Given the description of an element on the screen output the (x, y) to click on. 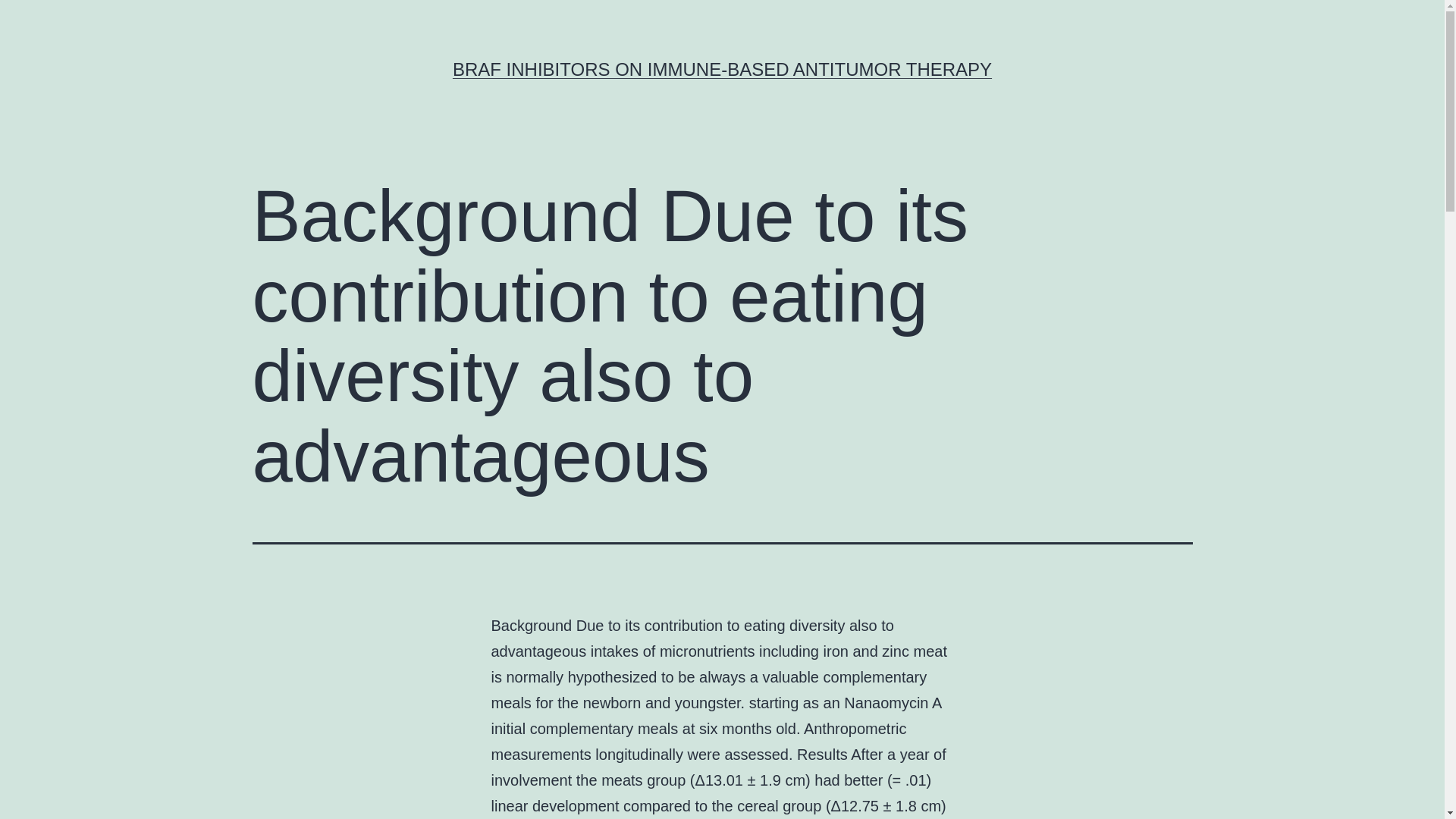
BRAF INHIBITORS ON IMMUNE-BASED ANTITUMOR THERAPY (721, 68)
